Given the description of an element on the screen output the (x, y) to click on. 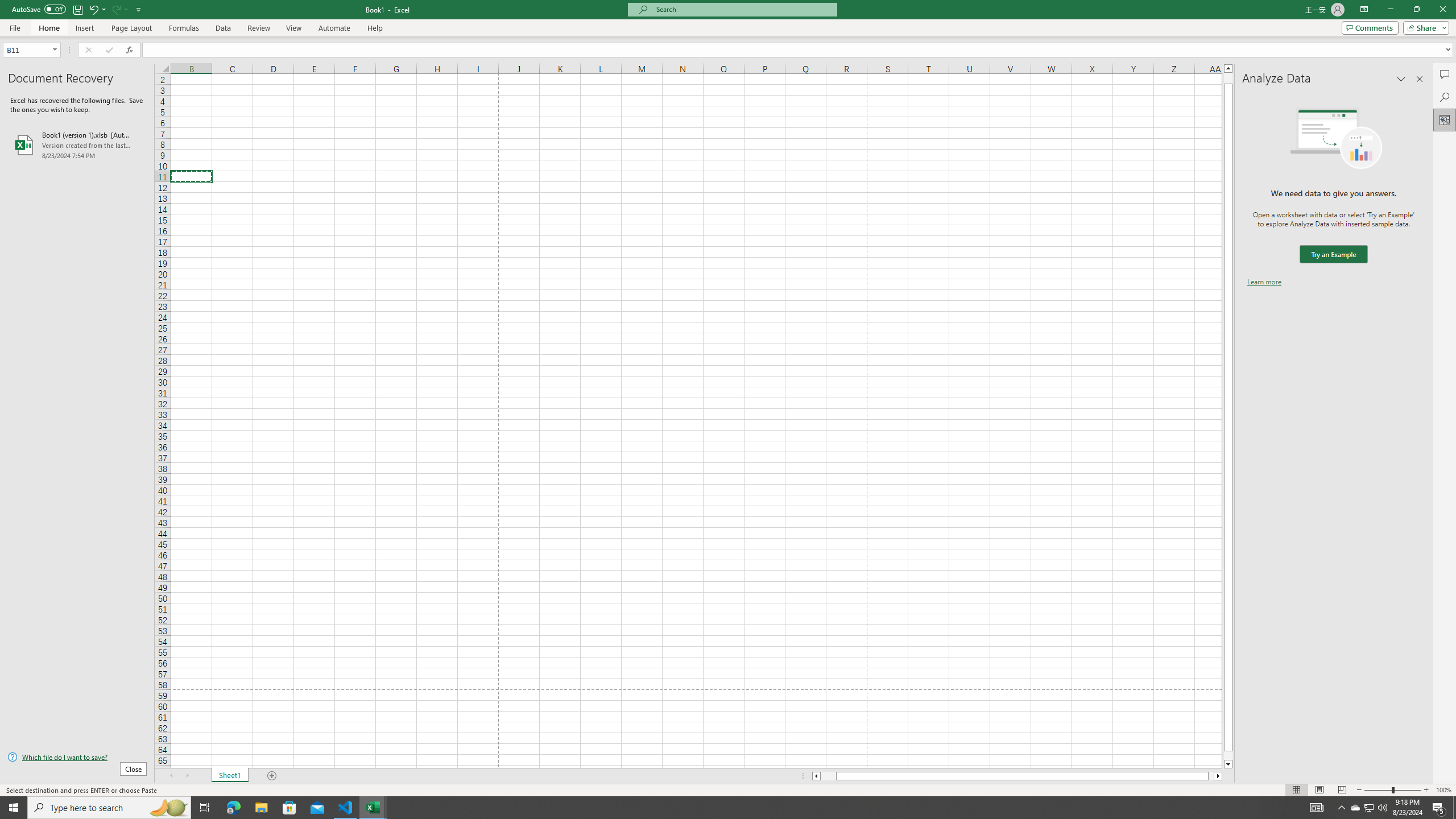
Page up (1228, 77)
